Given the description of an element on the screen output the (x, y) to click on. 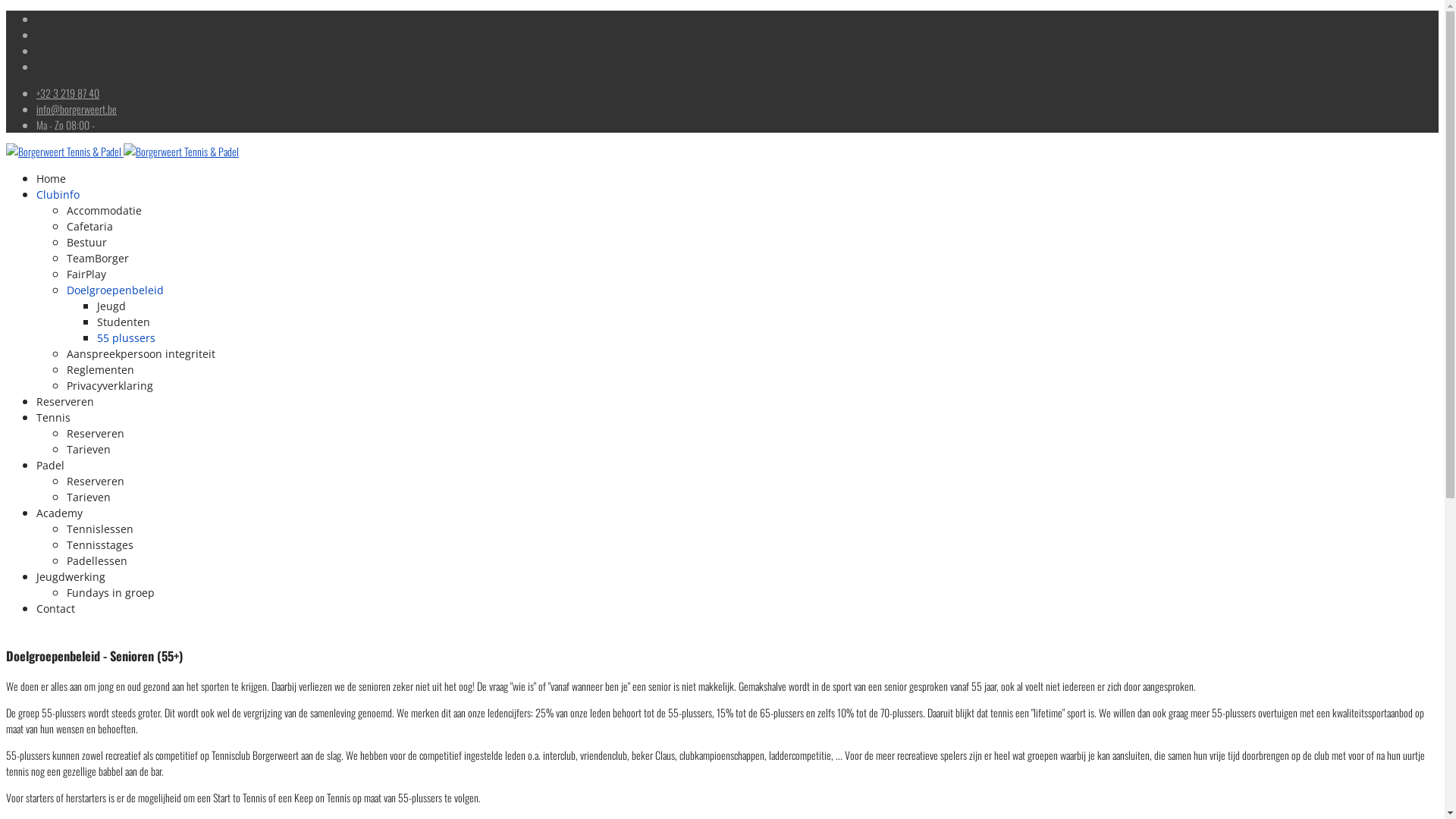
Academy Element type: text (59, 512)
info@borgerweert.be Element type: text (76, 108)
+32 3 219 87 40 Element type: text (67, 92)
Aanspreekpersoon integriteit Element type: text (140, 353)
Tarieven Element type: text (88, 449)
Accommodatie Element type: text (103, 210)
Tennis Element type: text (53, 417)
Jeugd Element type: text (111, 305)
Studenten Element type: text (123, 321)
Privacyverklaring Element type: text (109, 385)
Contact Element type: text (55, 608)
Tennislessen Element type: text (99, 528)
TeamBorger Element type: text (97, 258)
Reserveren Element type: text (65, 401)
55 plussers Element type: text (126, 337)
Bestuur Element type: text (86, 242)
Reserveren Element type: text (95, 433)
FairPlay Element type: text (86, 273)
Doelgroepenbeleid Element type: text (114, 289)
Padellessen Element type: text (96, 560)
Cafetaria Element type: text (89, 226)
Padel Element type: text (50, 465)
Clubinfo Element type: text (57, 194)
Tarieven Element type: text (88, 496)
Tennisstages Element type: text (99, 544)
Jeugdwerking Element type: text (70, 576)
Reglementen Element type: text (100, 369)
Reserveren Element type: text (95, 480)
Fundays in groep Element type: text (110, 592)
Home Element type: text (50, 178)
